Given the description of an element on the screen output the (x, y) to click on. 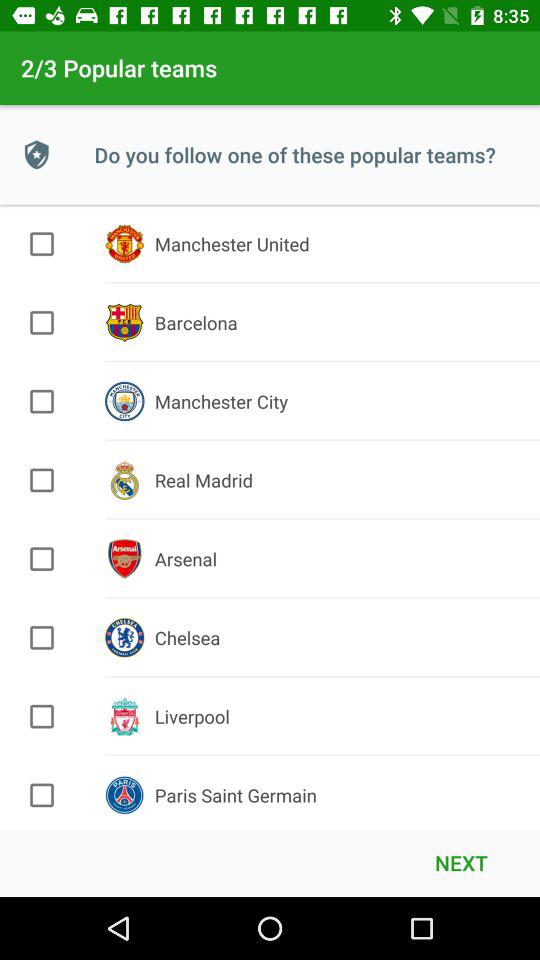
select the team (42, 322)
